Given the description of an element on the screen output the (x, y) to click on. 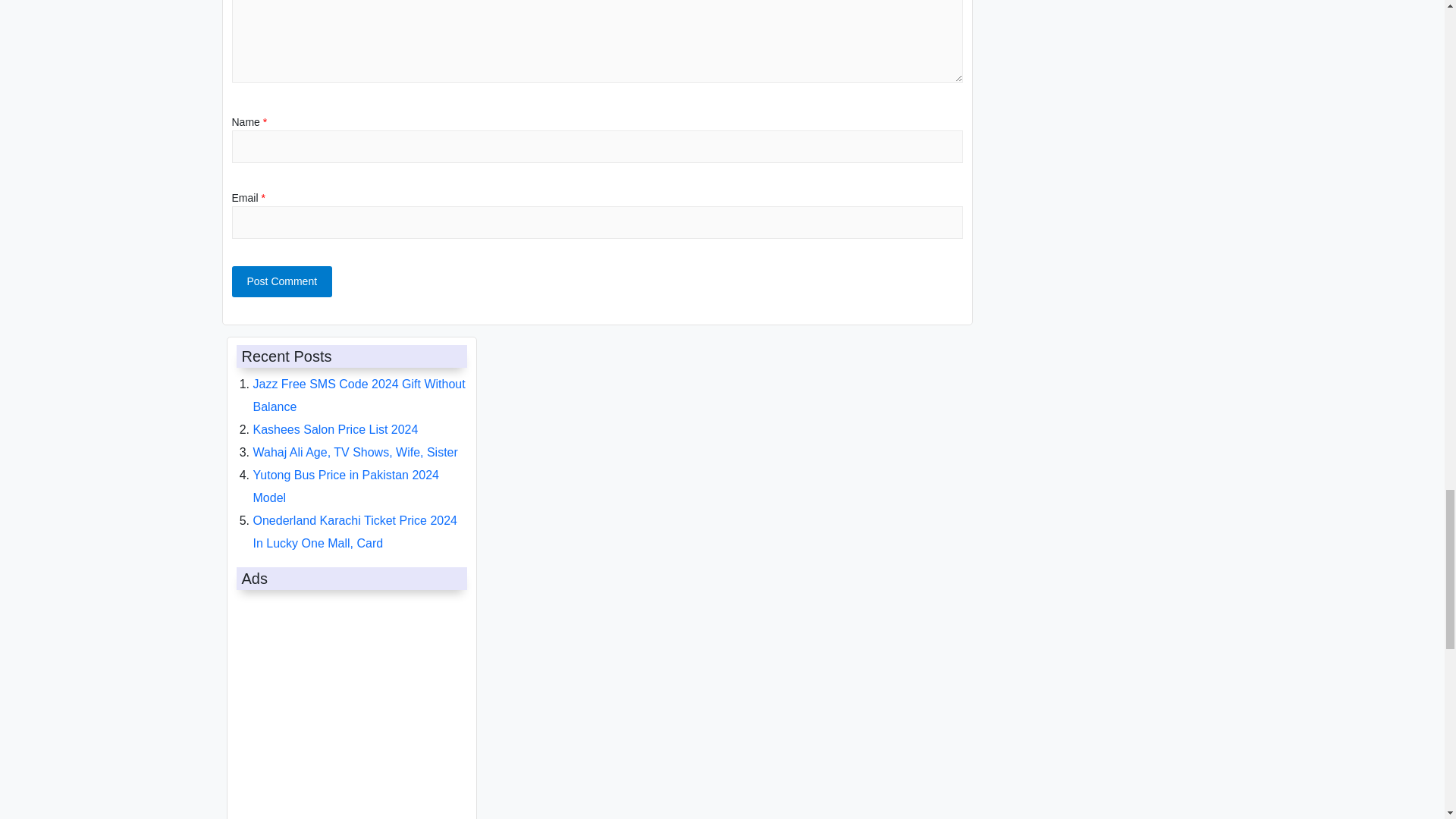
Post Comment (282, 281)
Jazz Free SMS Code 2024 Gift Without Balance (359, 395)
Advertisement (346, 707)
Post Comment (282, 281)
Onederland Karachi Ticket Price 2024 In Lucky One Mall, Card (355, 531)
Kashees Salon Price List 2024 (336, 429)
Wahaj Ali Age, TV Shows, Wife, Sister (355, 451)
Yutong Bus Price in Pakistan 2024 Model (346, 486)
